Given the description of an element on the screen output the (x, y) to click on. 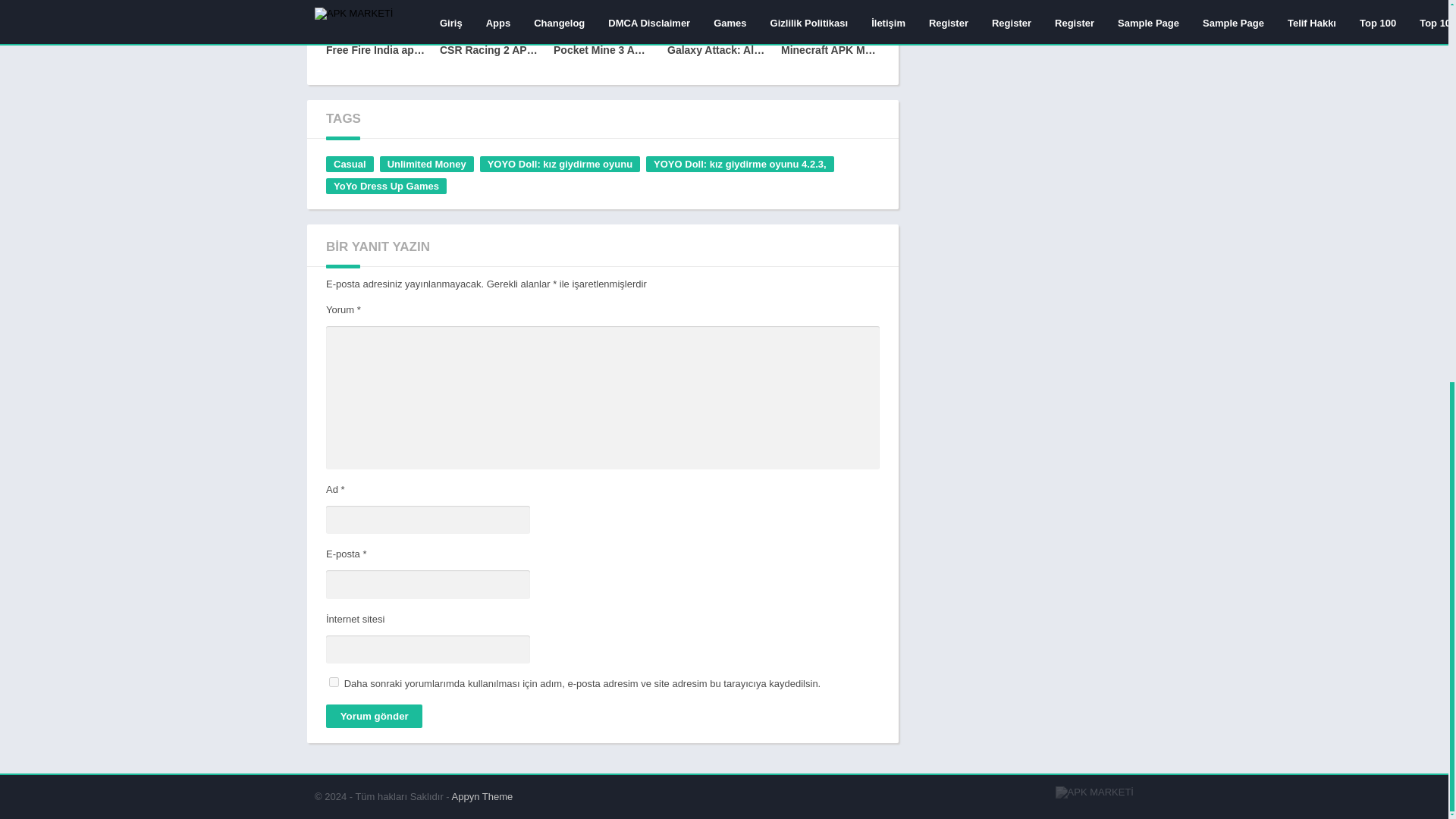
yes (334, 682)
Free Fire India apk indir (375, 36)
